Given the description of an element on the screen output the (x, y) to click on. 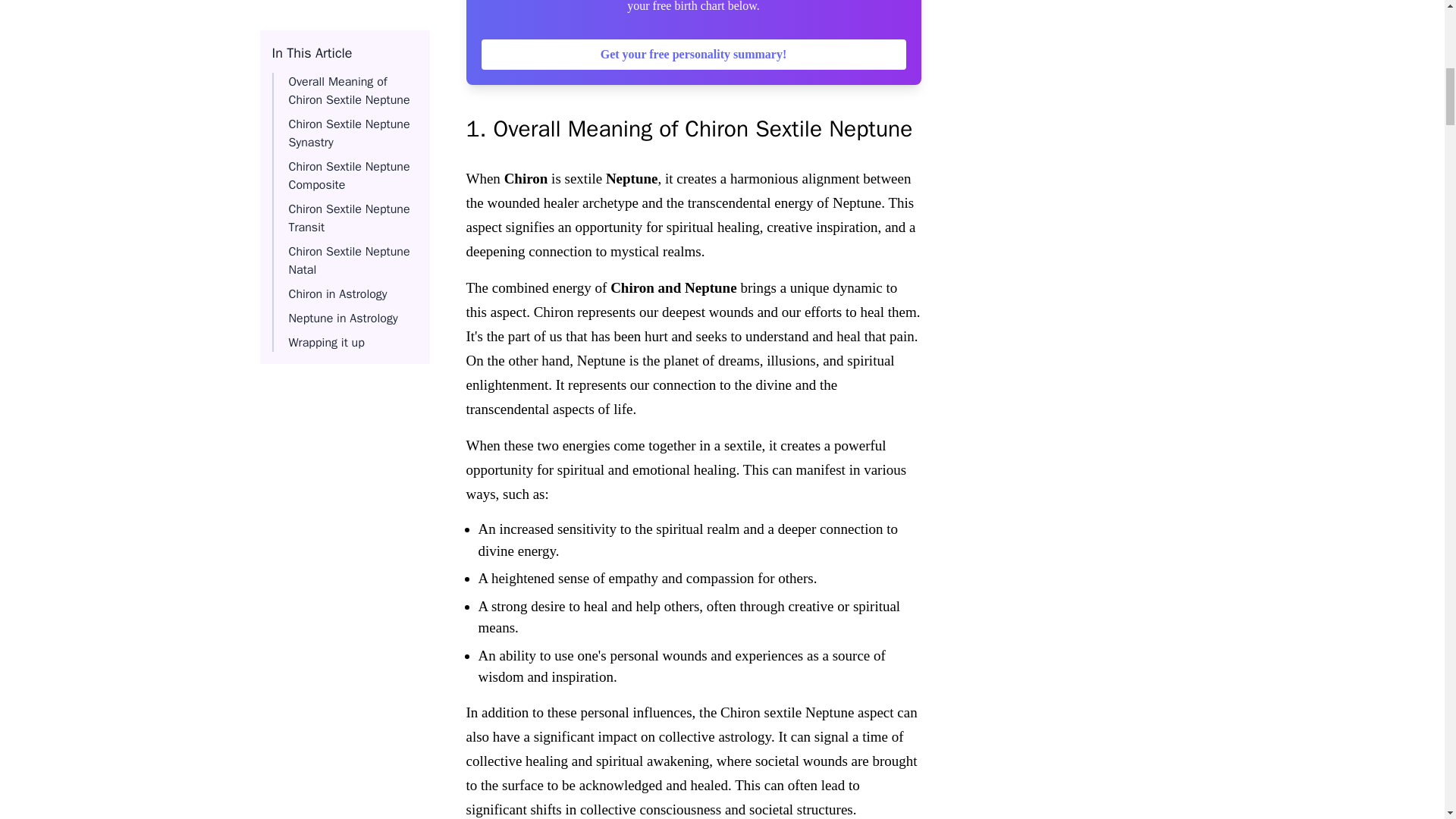
Chiron in Astrology (337, 42)
Get your free personality summary! (692, 54)
Chiron Sextile Neptune Natal (348, 12)
Neptune in Astrology (342, 66)
Wrapping it up (326, 90)
